Given the description of an element on the screen output the (x, y) to click on. 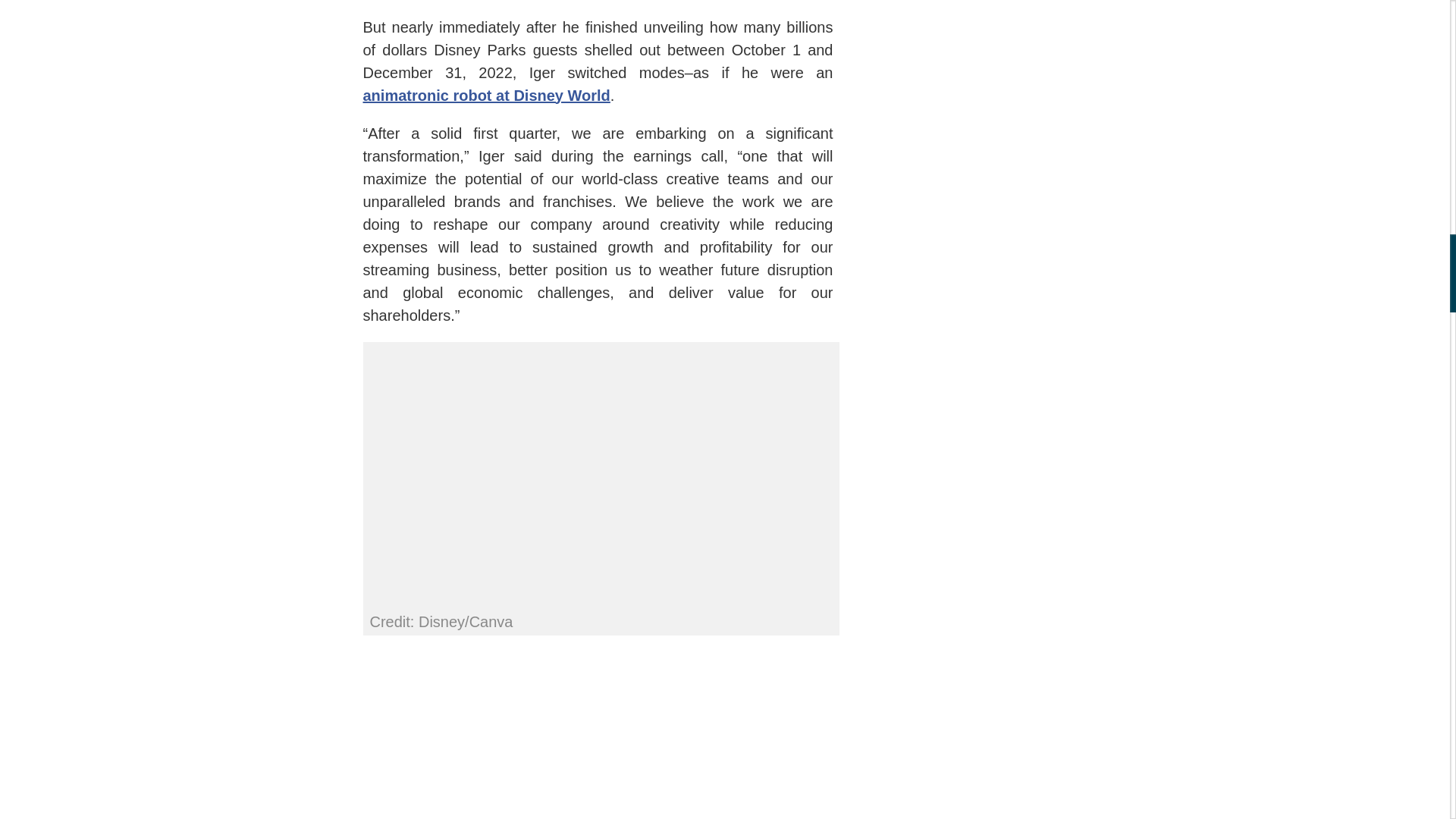
animatronic robot at Disney World (486, 95)
